Given the description of an element on the screen output the (x, y) to click on. 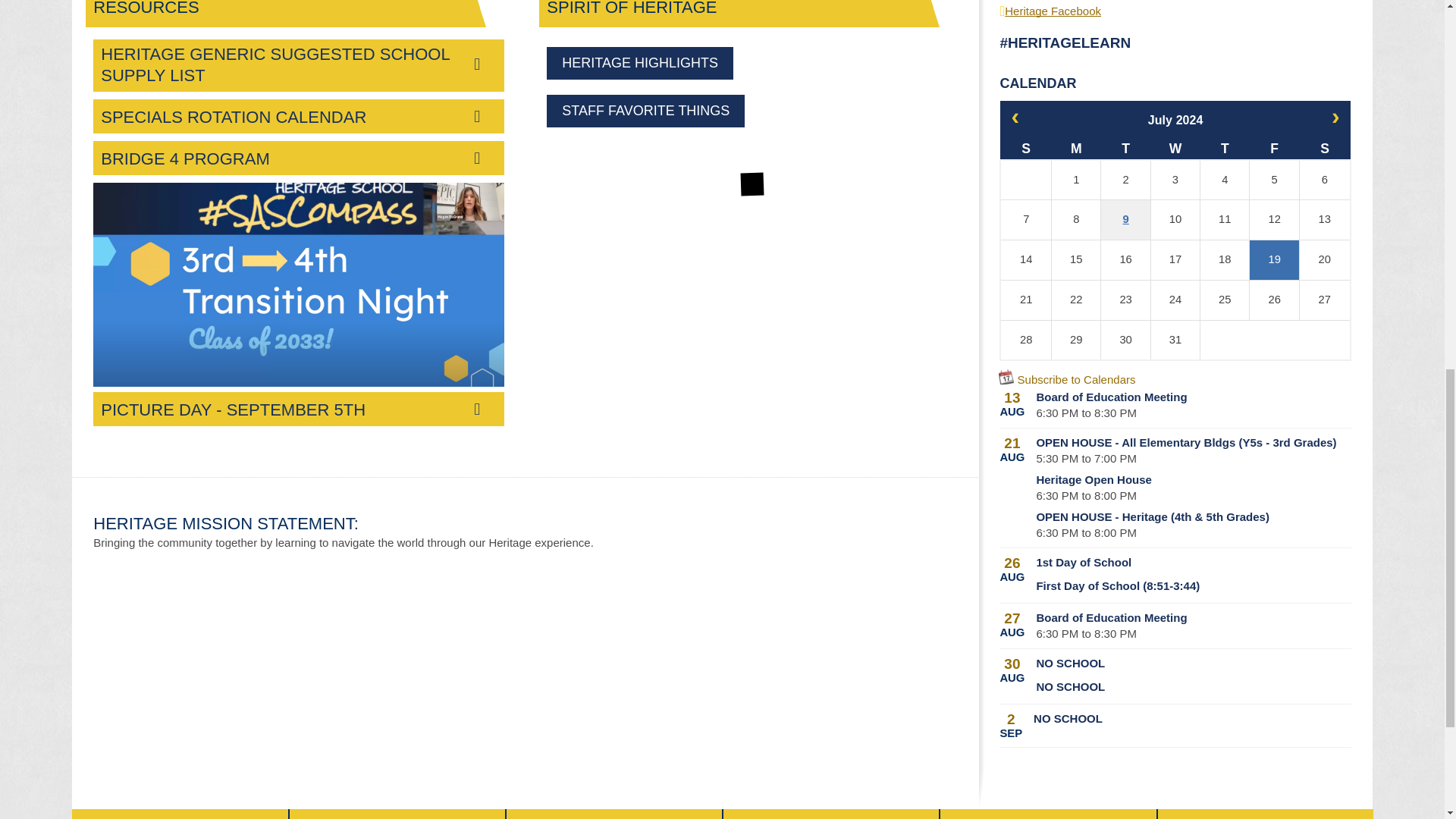
Time (1086, 458)
Time (1086, 532)
Monday (1075, 143)
Thursday (1224, 143)
iCal Feed (1005, 376)
Tuesday (1125, 143)
June 2024 (1014, 115)
Sunday (1025, 143)
Saturday (1323, 143)
View more about Board of Education Meeting (1193, 397)
Time (1086, 412)
View more about Heritage Open House (1193, 479)
Time (1086, 495)
Wednesday (1174, 143)
August 2024 (1334, 115)
